Given the description of an element on the screen output the (x, y) to click on. 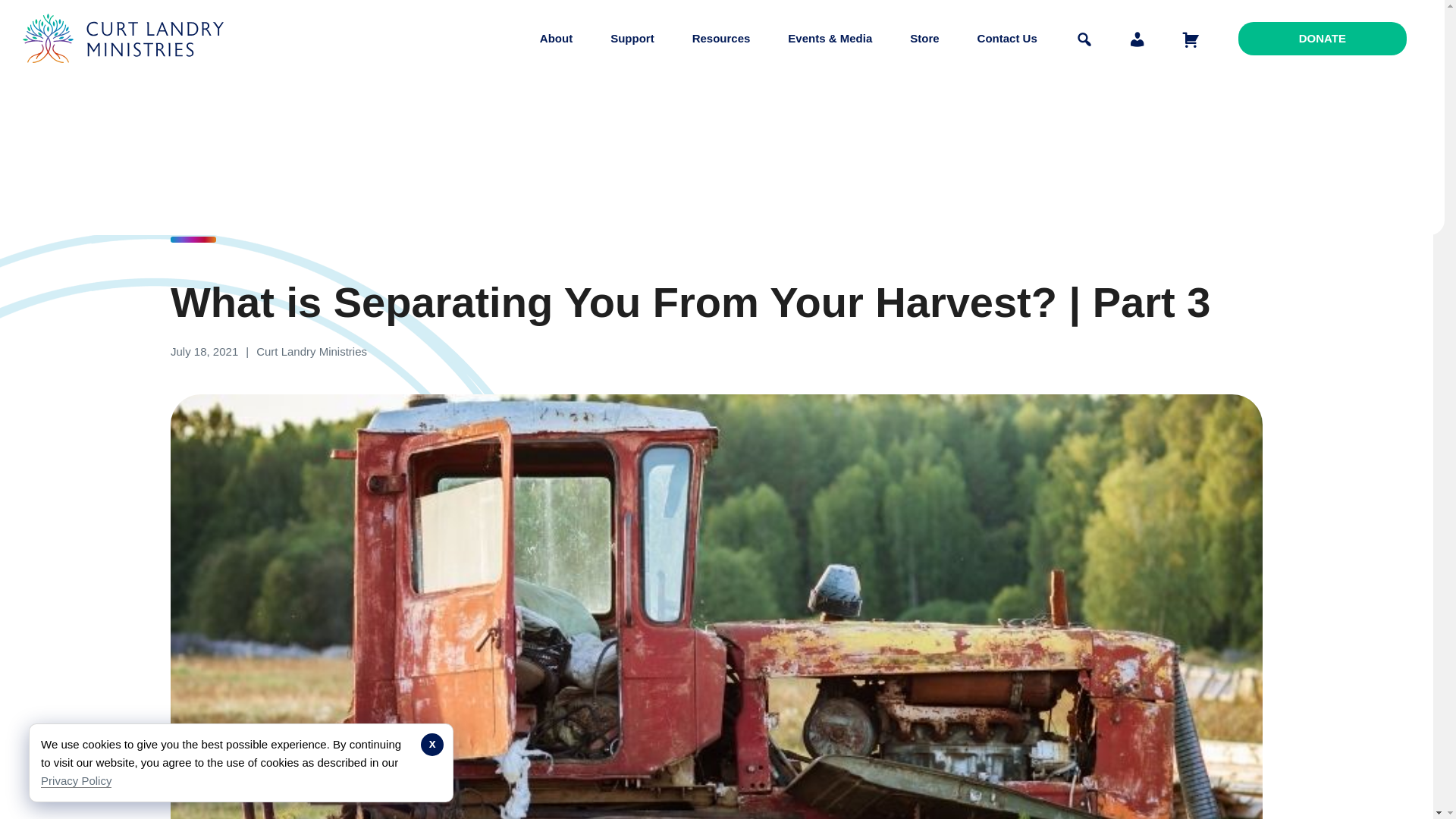
Curt Landry Ministries (127, 74)
Resources (721, 38)
About (556, 38)
Store (924, 38)
Support (631, 38)
